Given the description of an element on the screen output the (x, y) to click on. 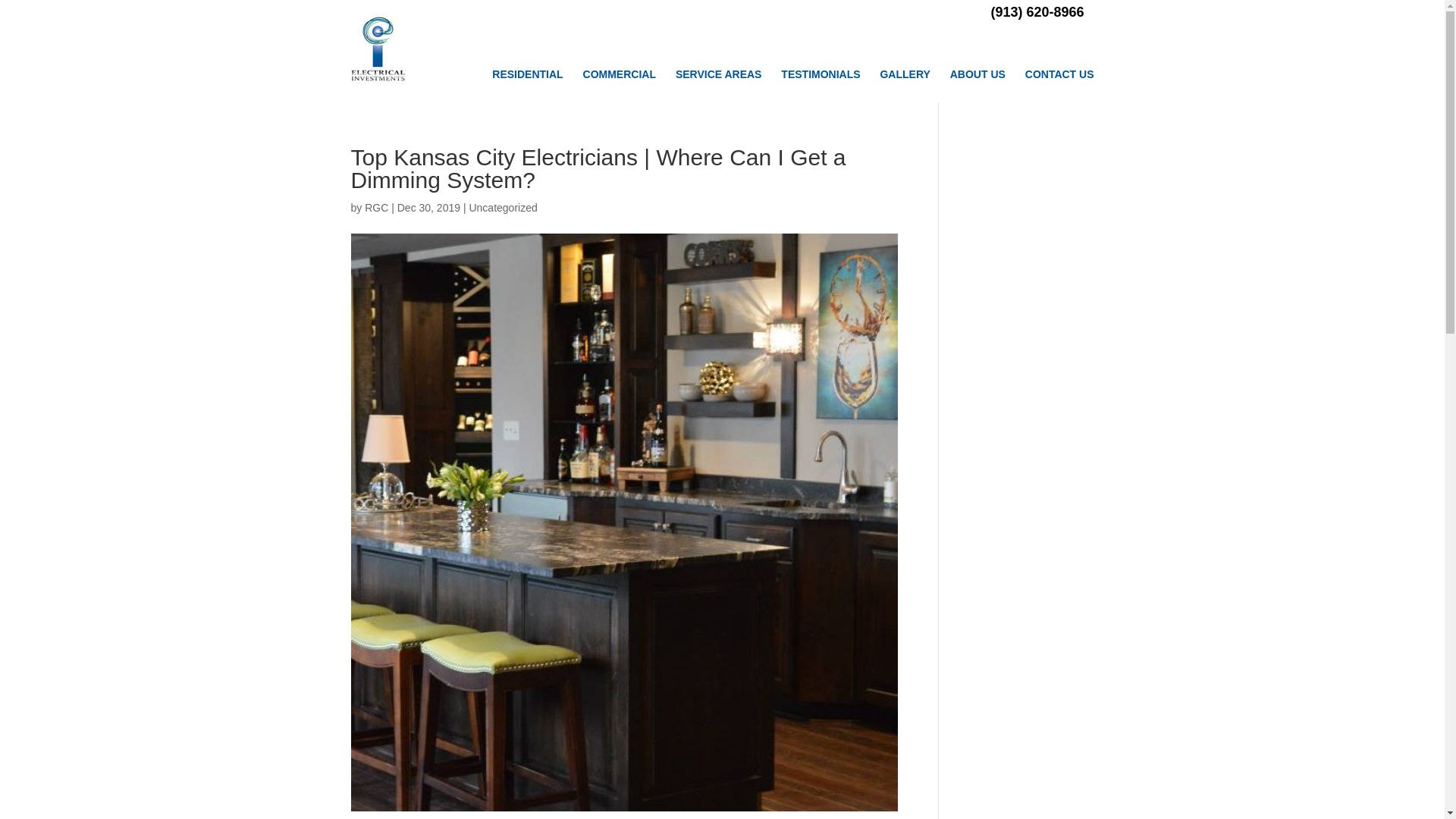
COMMERCIAL (619, 73)
RESIDENTIAL (527, 73)
RGC (376, 207)
ABOUT US (978, 73)
CONTACT US (1059, 73)
GALLERY (904, 73)
SERVICE AREAS (718, 73)
Posts by RGC (376, 207)
TESTIMONIALS (820, 73)
